Given the description of an element on the screen output the (x, y) to click on. 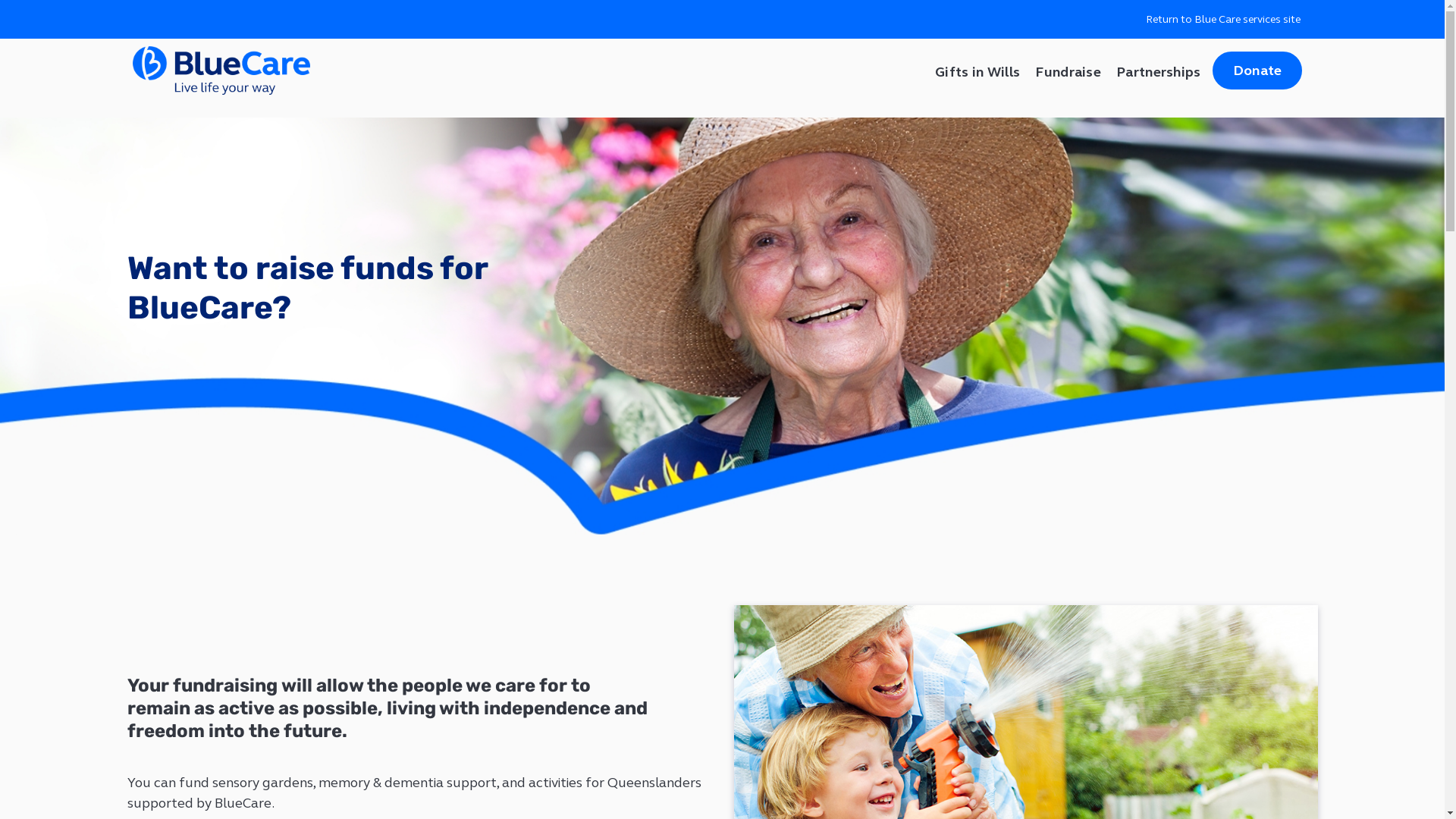
Gifts in Wills Element type: text (977, 70)
Donate Element type: text (1257, 70)
Return to Blue Care services site Element type: text (1222, 19)
Partnerships Element type: text (1158, 70)
Fundraise Element type: text (1067, 70)
